Given the description of an element on the screen output the (x, y) to click on. 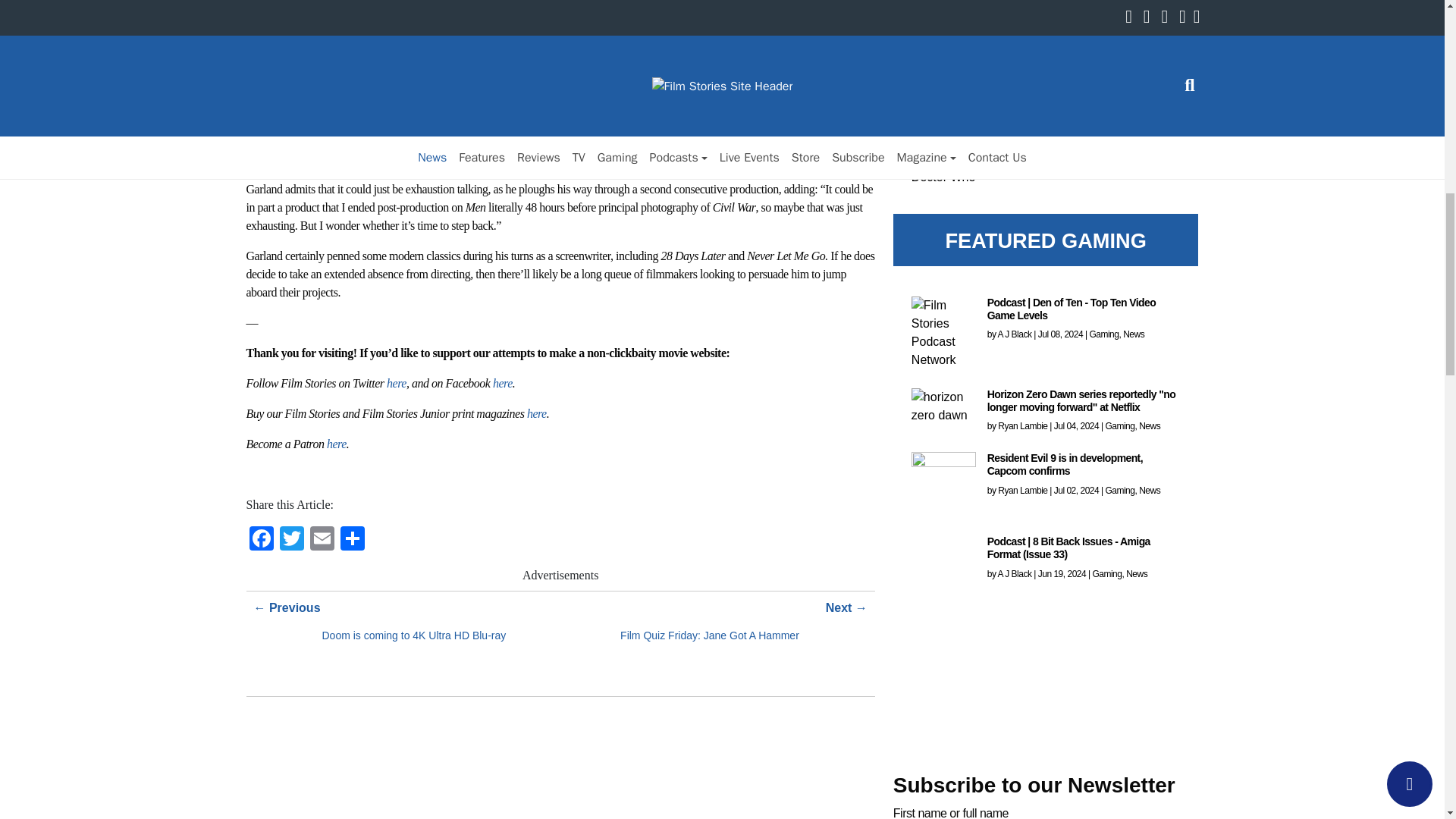
Facebook (261, 540)
